Given the description of an element on the screen output the (x, y) to click on. 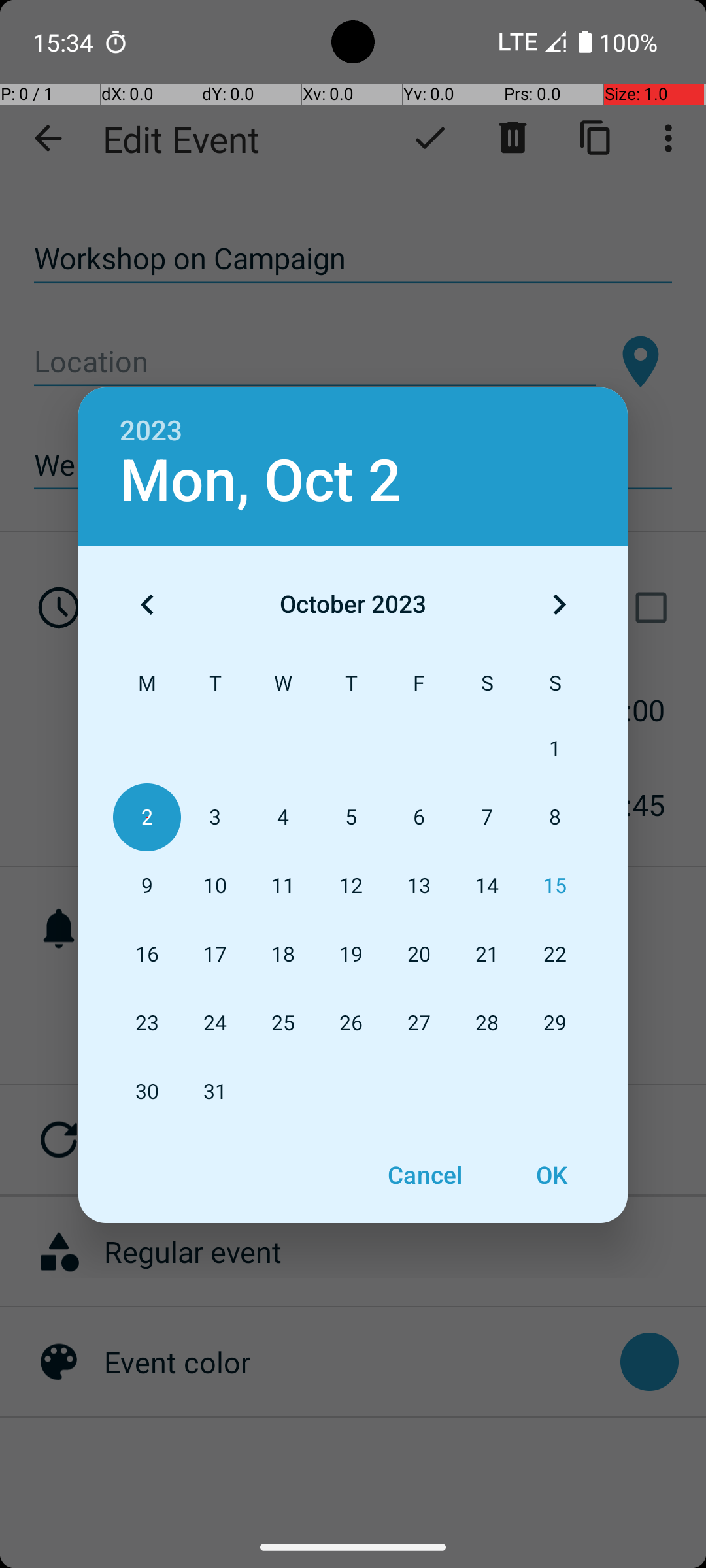
Mon, Oct 2 Element type: android.widget.TextView (260, 480)
